Given the description of an element on the screen output the (x, y) to click on. 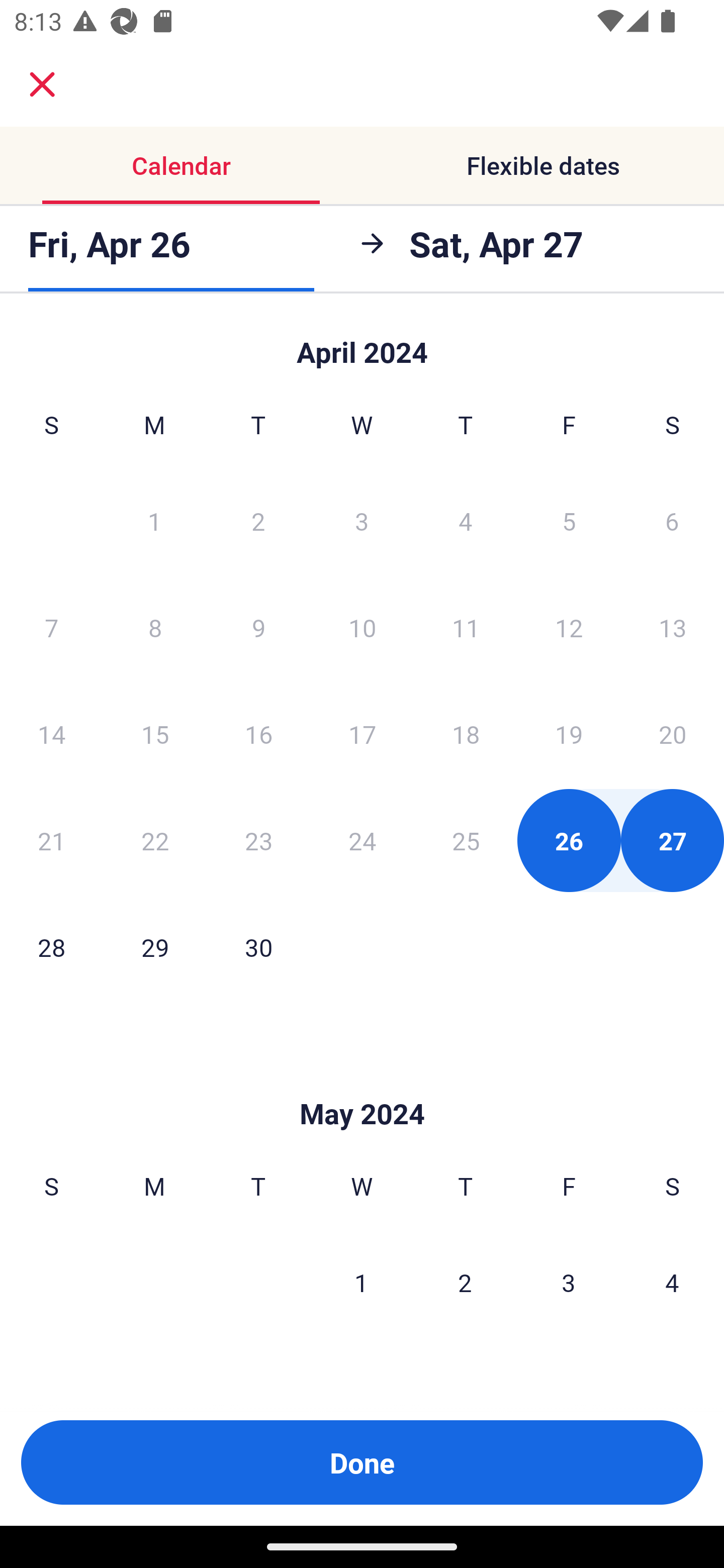
close. (42, 84)
Flexible dates (542, 164)
Skip to Done (362, 343)
1 Monday, April 1, 2024 (154, 520)
2 Tuesday, April 2, 2024 (257, 520)
3 Wednesday, April 3, 2024 (361, 520)
4 Thursday, April 4, 2024 (465, 520)
5 Friday, April 5, 2024 (568, 520)
6 Saturday, April 6, 2024 (672, 520)
7 Sunday, April 7, 2024 (51, 626)
8 Monday, April 8, 2024 (155, 626)
9 Tuesday, April 9, 2024 (258, 626)
10 Wednesday, April 10, 2024 (362, 626)
11 Thursday, April 11, 2024 (465, 626)
12 Friday, April 12, 2024 (569, 626)
13 Saturday, April 13, 2024 (672, 626)
14 Sunday, April 14, 2024 (51, 733)
15 Monday, April 15, 2024 (155, 733)
16 Tuesday, April 16, 2024 (258, 733)
17 Wednesday, April 17, 2024 (362, 733)
18 Thursday, April 18, 2024 (465, 733)
19 Friday, April 19, 2024 (569, 733)
20 Saturday, April 20, 2024 (672, 733)
21 Sunday, April 21, 2024 (51, 840)
22 Monday, April 22, 2024 (155, 840)
23 Tuesday, April 23, 2024 (258, 840)
24 Wednesday, April 24, 2024 (362, 840)
25 Thursday, April 25, 2024 (465, 840)
28 Sunday, April 28, 2024 (51, 946)
29 Monday, April 29, 2024 (155, 946)
30 Tuesday, April 30, 2024 (258, 946)
Skip to Done (362, 1083)
1 Wednesday, May 1, 2024 (361, 1282)
2 Thursday, May 2, 2024 (464, 1282)
3 Friday, May 3, 2024 (568, 1282)
4 Saturday, May 4, 2024 (672, 1282)
Done (361, 1462)
